Given the description of an element on the screen output the (x, y) to click on. 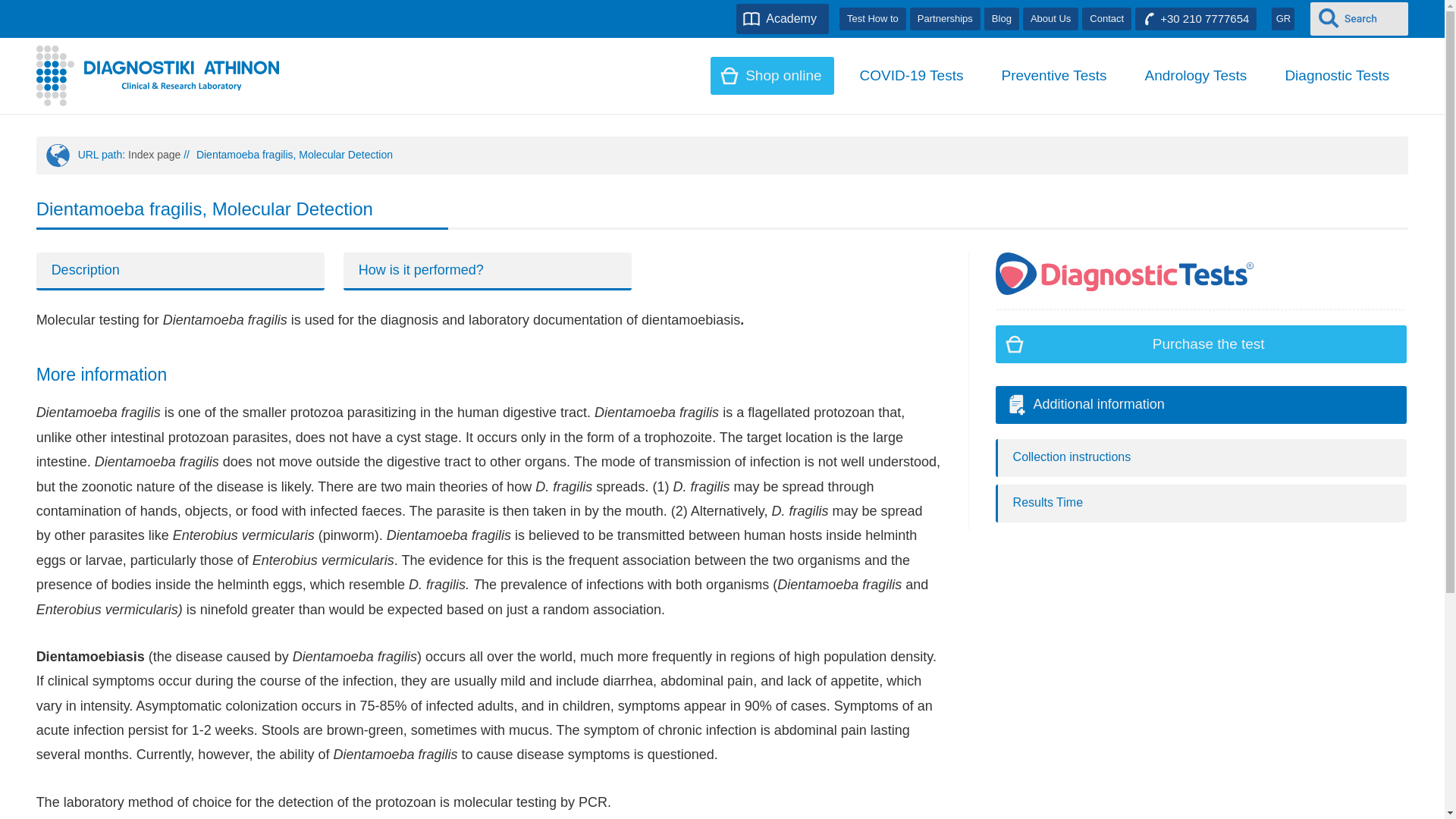
Contact (1106, 18)
GR (1282, 18)
About Us (1050, 18)
Blog (1001, 18)
